Given the description of an element on the screen output the (x, y) to click on. 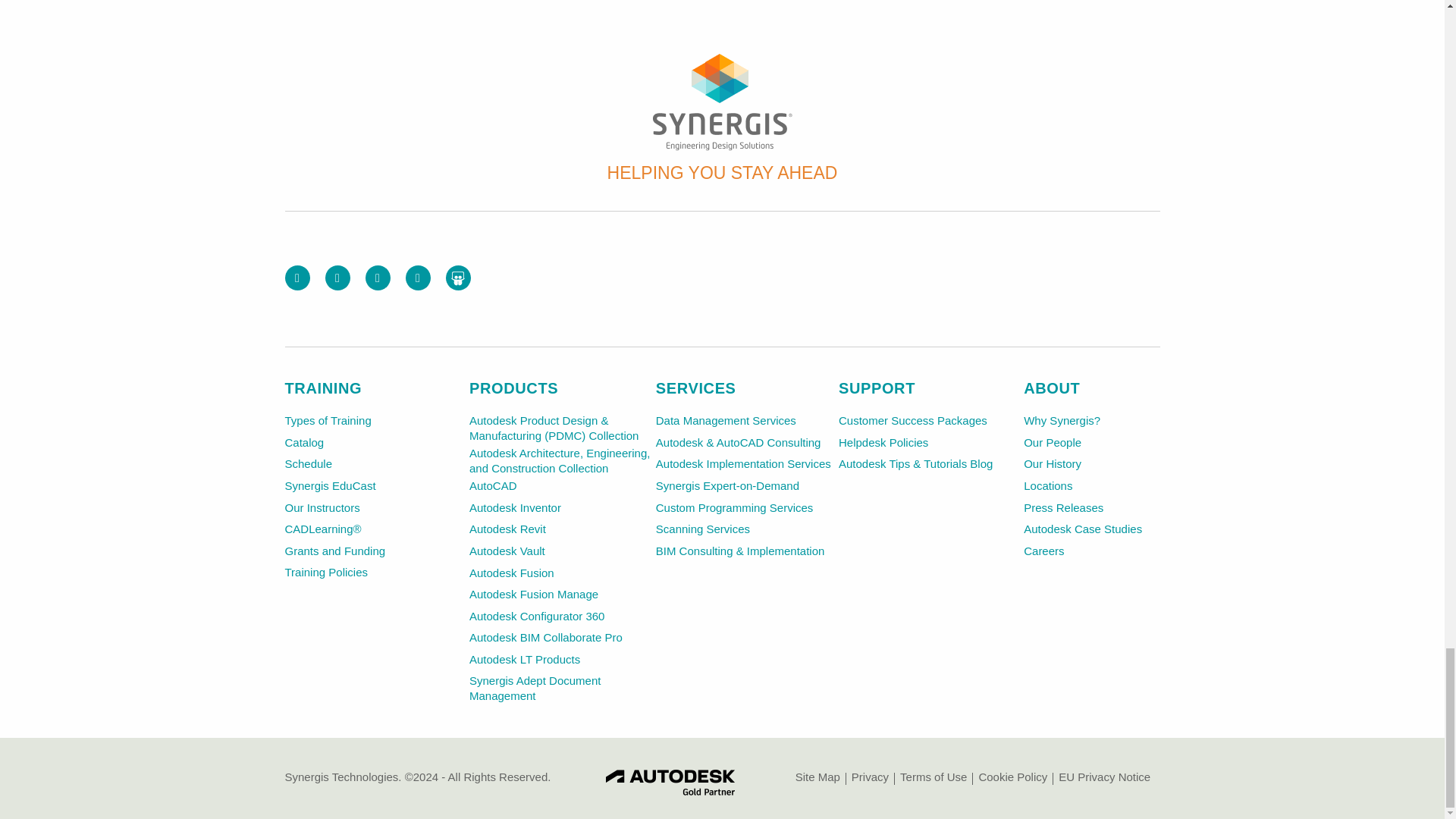
YouTube (416, 277)
Slideshare (457, 277)
Facebook (297, 277)
Twitter (336, 277)
LinkedIn (377, 277)
Form 0 (972, 275)
